Given the description of an element on the screen output the (x, y) to click on. 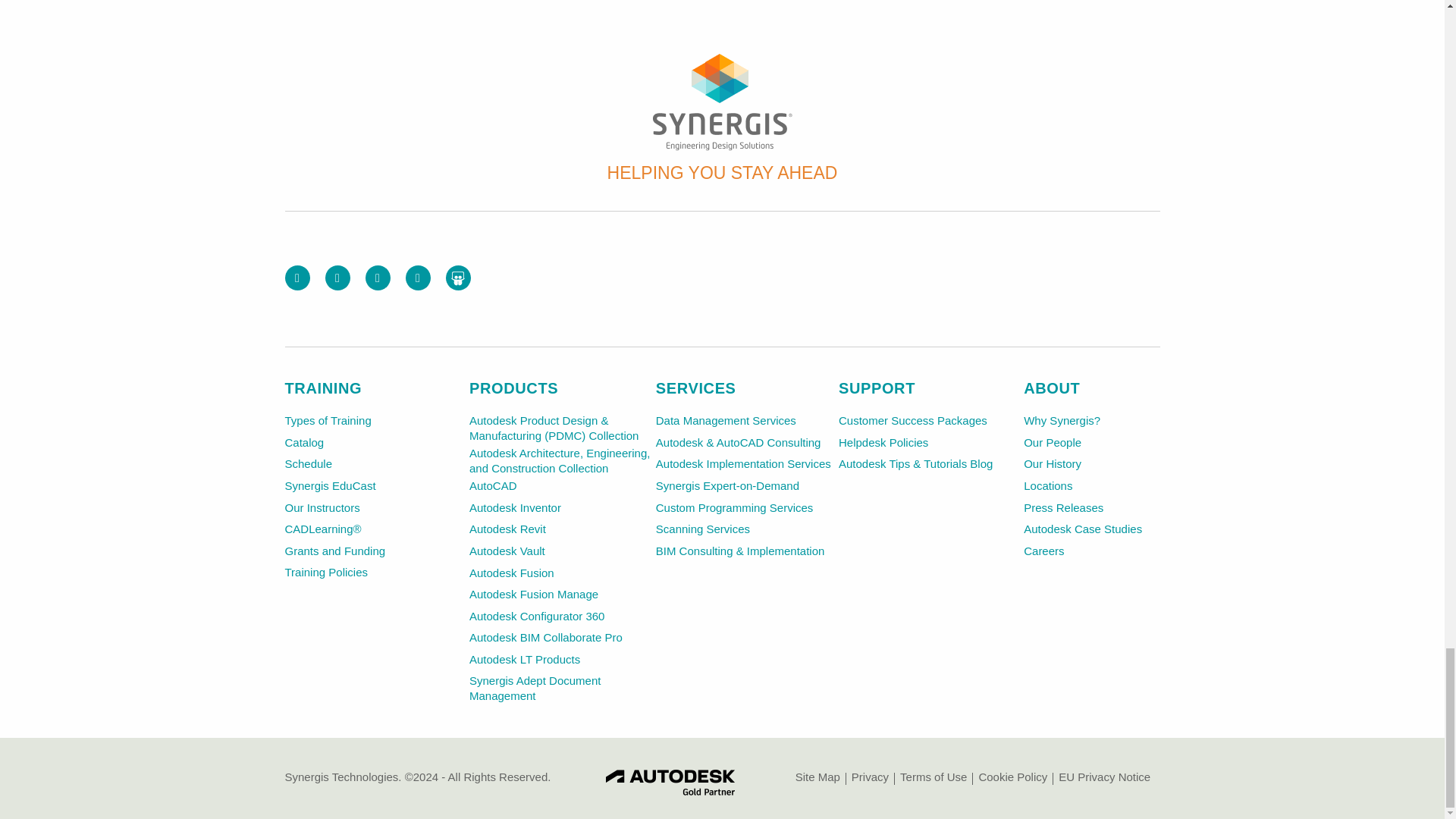
YouTube (416, 277)
Slideshare (457, 277)
Facebook (297, 277)
Twitter (336, 277)
LinkedIn (377, 277)
Form 0 (972, 275)
